Given the description of an element on the screen output the (x, y) to click on. 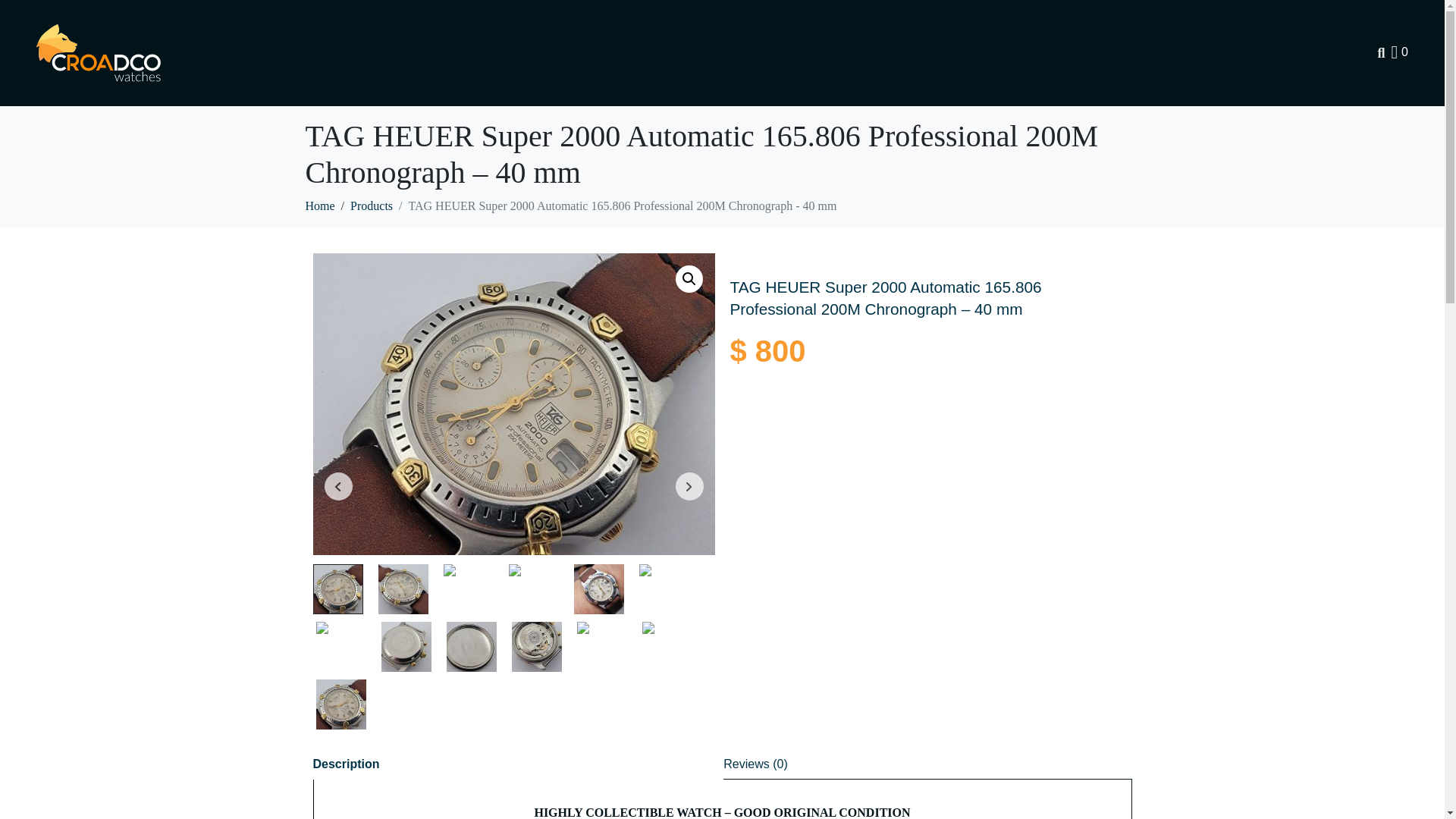
Products (371, 205)
0 (1399, 51)
Description (345, 764)
Home (319, 205)
